Given the description of an element on the screen output the (x, y) to click on. 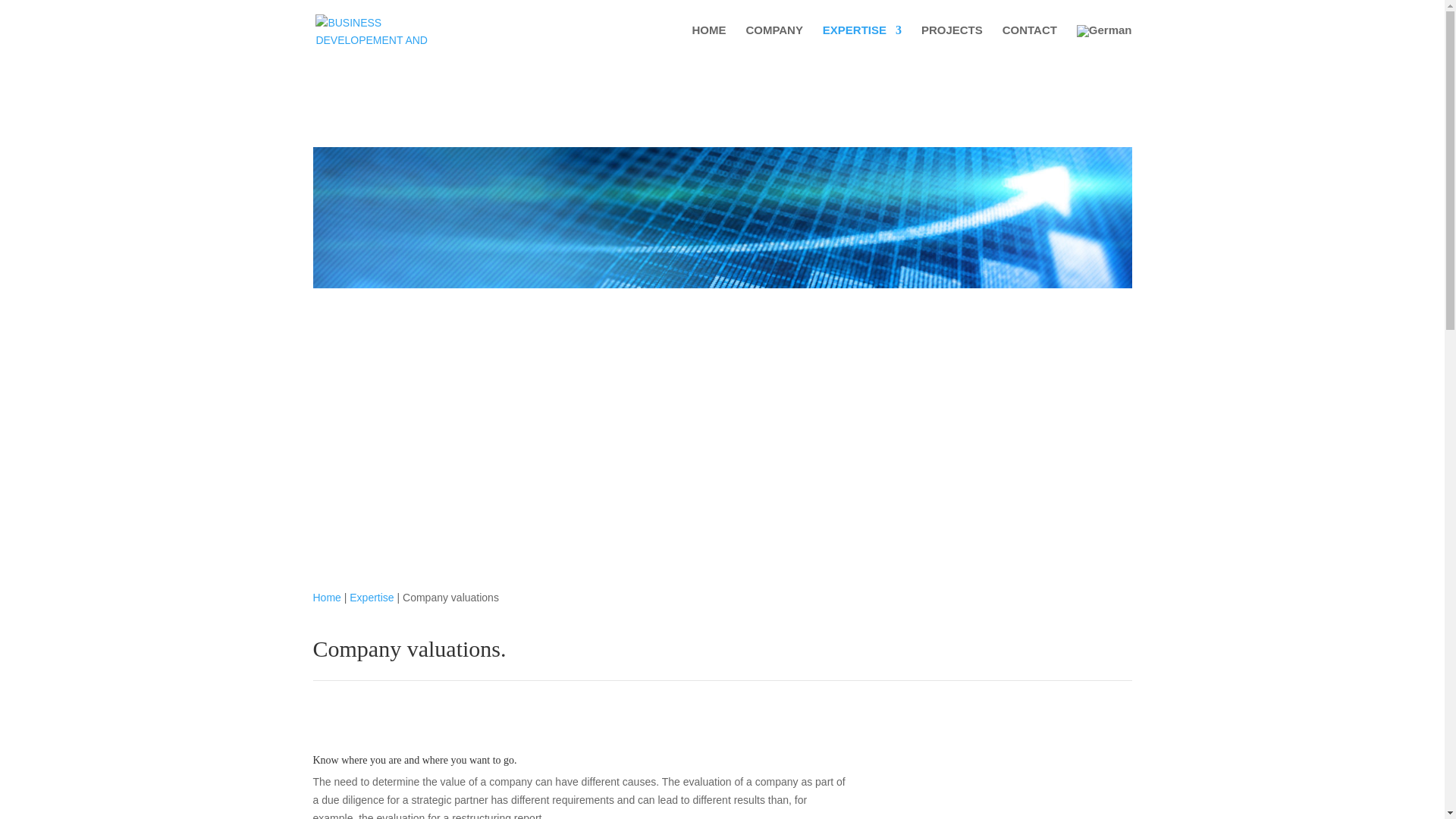
CONTACT (1030, 42)
Expertise (371, 597)
COMPANY (774, 42)
Home (326, 597)
HOME (708, 42)
PROJECTS (951, 42)
EXPERTISE (861, 42)
